Given the description of an element on the screen output the (x, y) to click on. 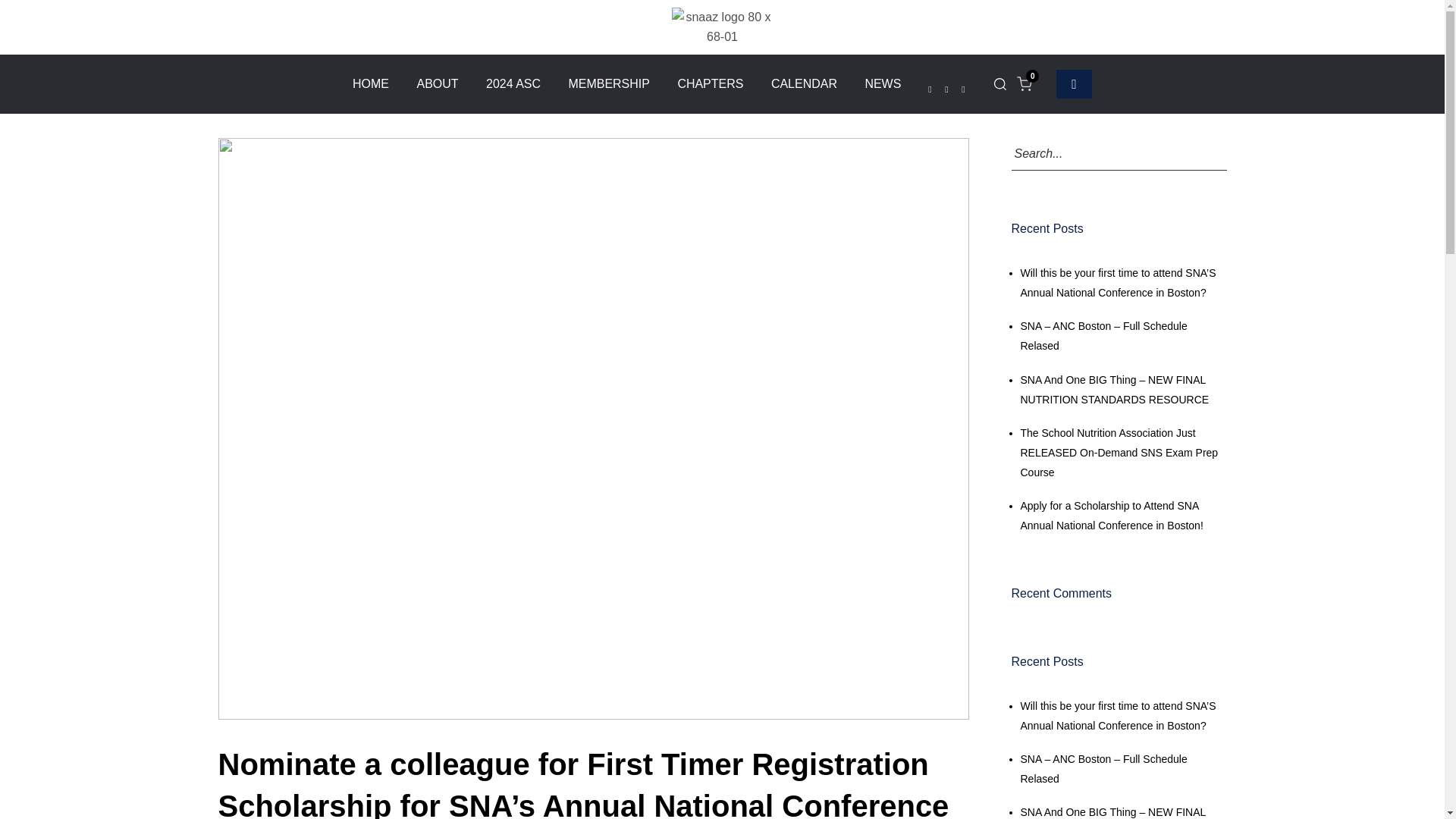
HOME (370, 83)
ABOUT (437, 83)
snaaz logo 80 x 68-01 (721, 26)
2024 ASC (513, 83)
